Given the description of an element on the screen output the (x, y) to click on. 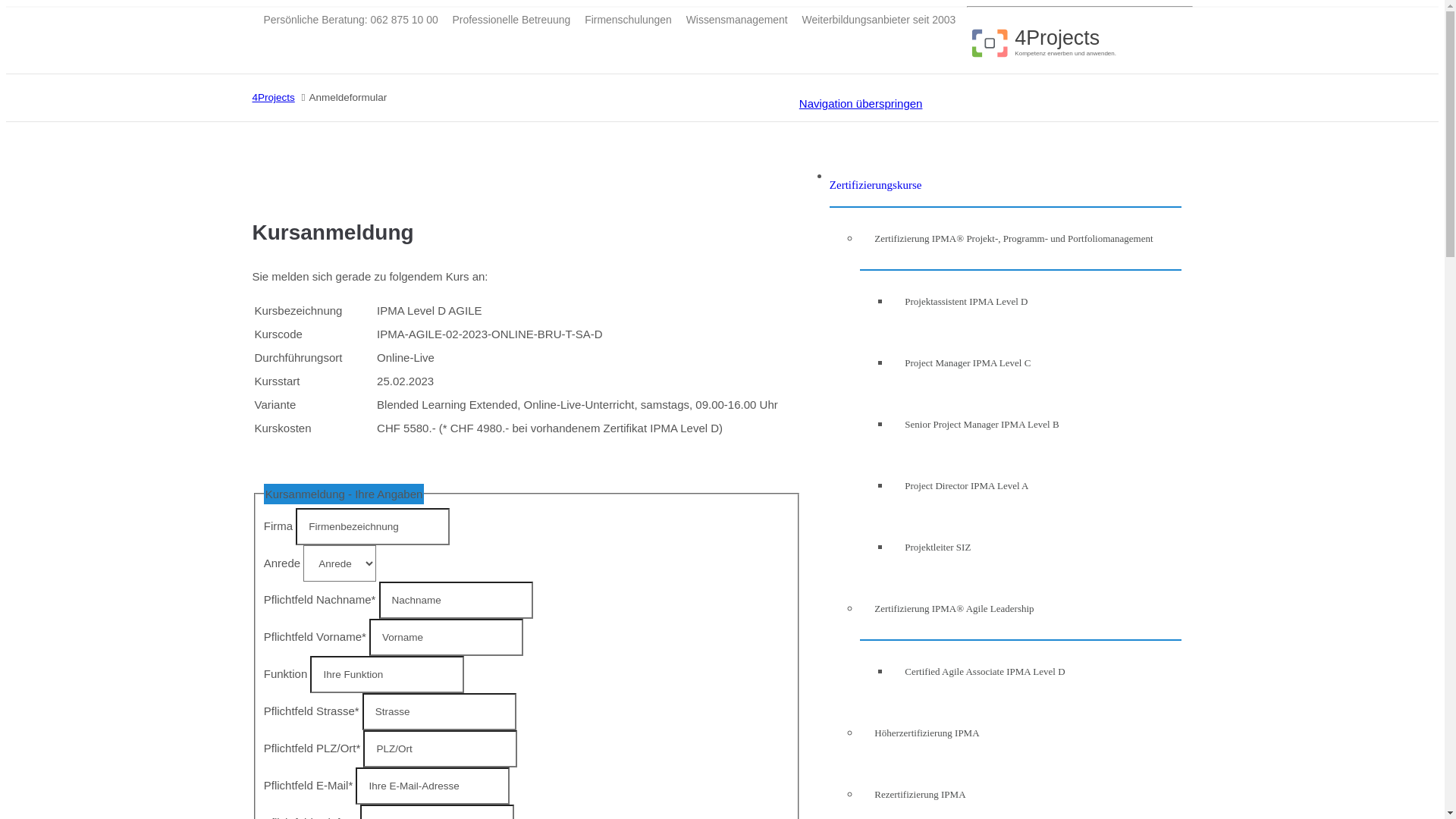
Certified Agile Associate IPMA Level D Element type: text (977, 671)
  Element type: text (1119, 42)
Projektleiter SIZ Element type: text (930, 546)
Open mobile navigation Element type: hover (1119, 42)
4Projects Element type: text (272, 97)
Project Manager IPMA Level C Element type: text (960, 362)
Project Director IPMA Level A Element type: text (959, 485)
Senior Project Manager IPMA Level B Element type: text (974, 423)
Projektassistent IPMA Level D Element type: text (959, 301)
Rezertifizierung IPMA Element type: text (912, 794)
Zertifizierungskurse Element type: text (875, 175)
